Given the description of an element on the screen output the (x, y) to click on. 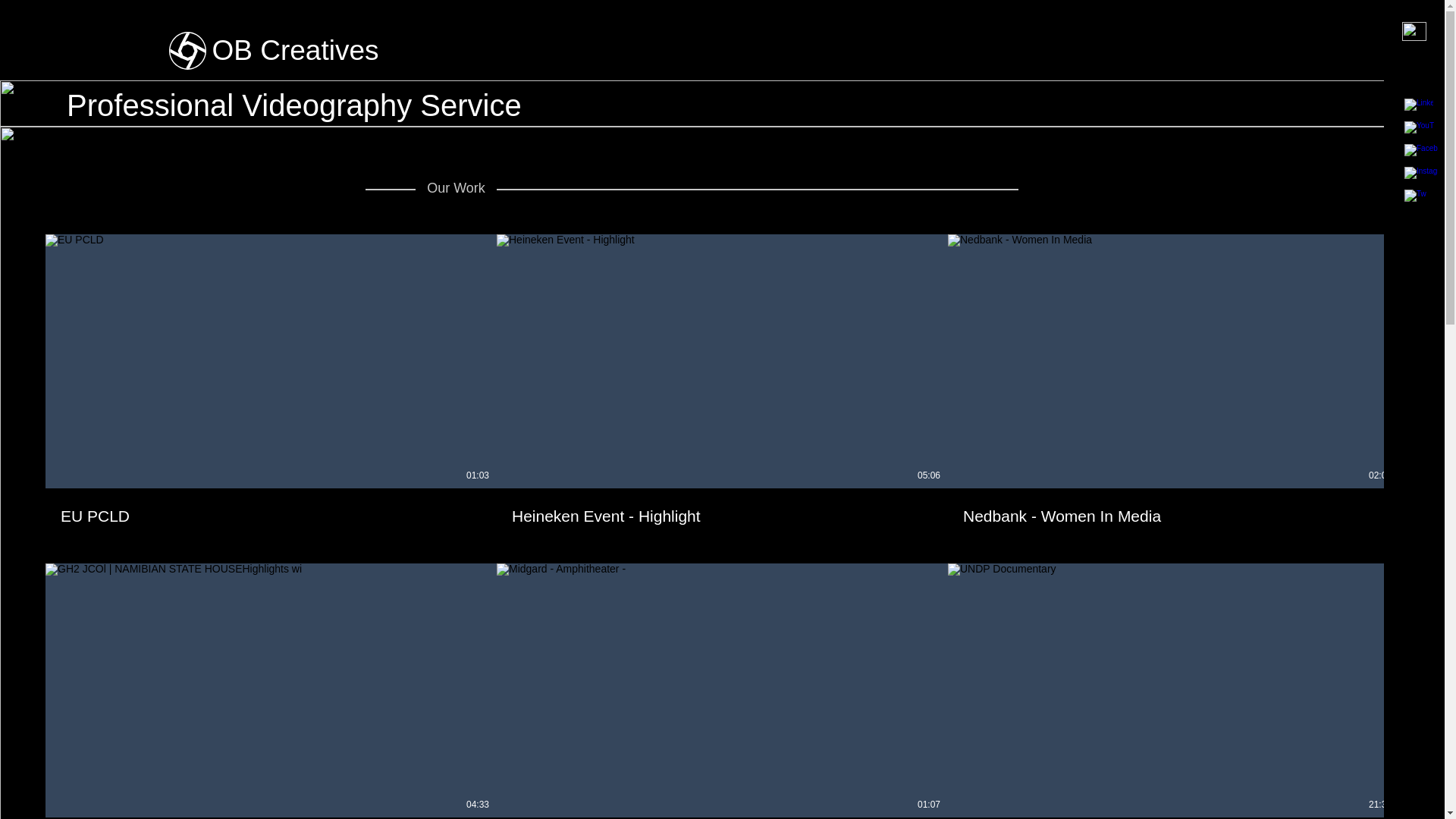
EU PCLD (271, 515)
Nedbank - Women In Media (1173, 515)
Nedbank - Women In Media (1173, 506)
Heineken Event - Highlight (721, 506)
EU PCLD (270, 506)
Heineken Event - Highlight (722, 515)
OB Creatives (295, 50)
